Given the description of an element on the screen output the (x, y) to click on. 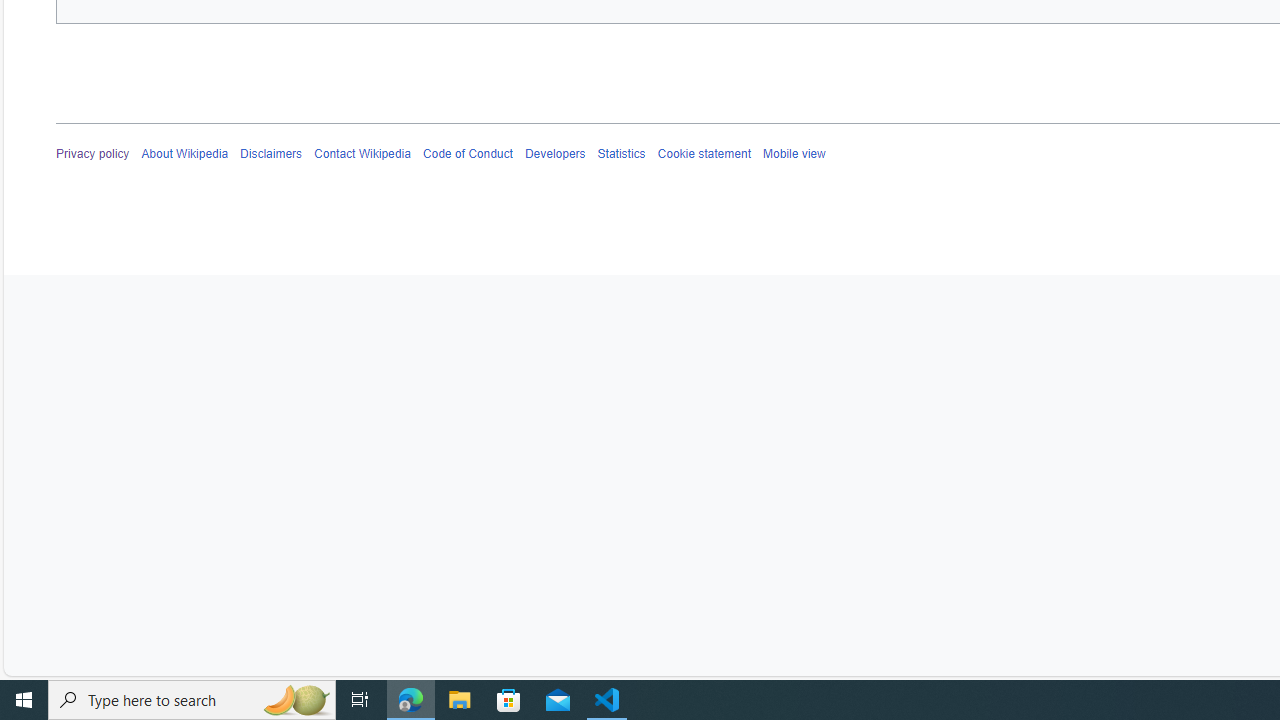
About Wikipedia (184, 154)
Contact Wikipedia (361, 154)
Mobile view (793, 154)
